Given the description of an element on the screen output the (x, y) to click on. 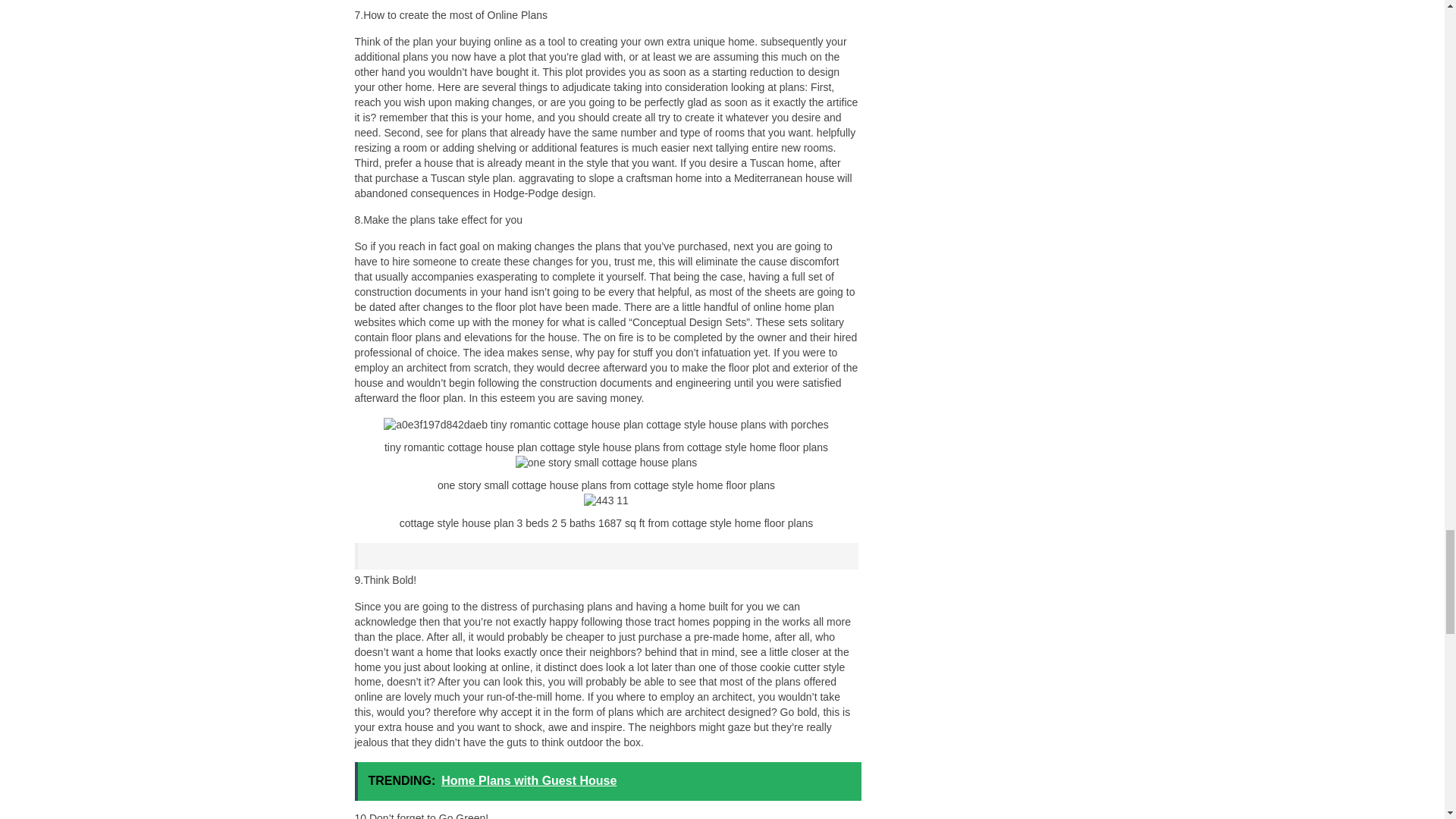
tiny romantic cottage house plan cottage style house plans (606, 425)
one story small cottage house plans (606, 462)
TRENDING:  Home Plans with Guest House (608, 781)
cottage style house plan 3 beds 2 5 baths 1687 sq ft (605, 500)
